Given the description of an element on the screen output the (x, y) to click on. 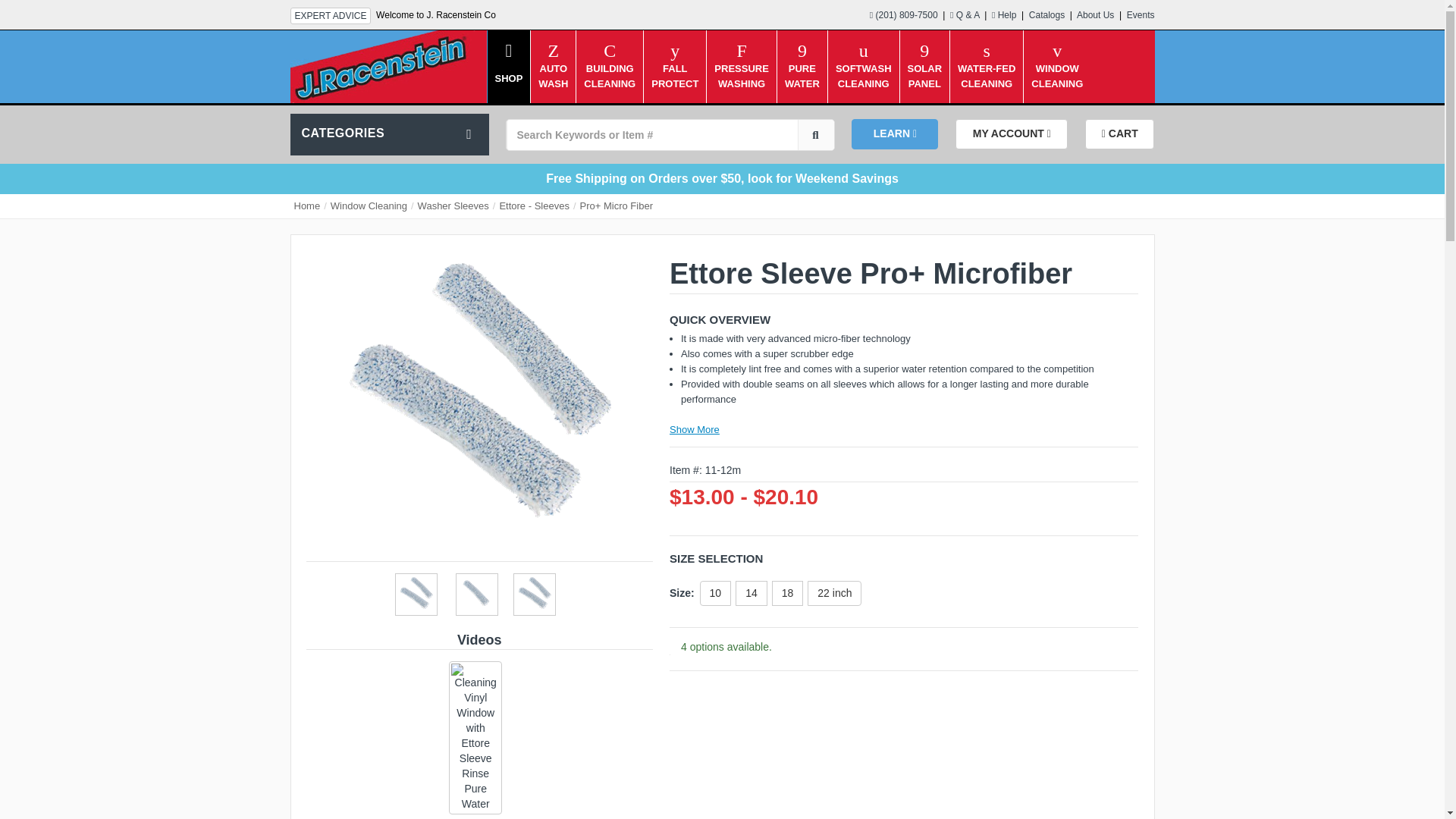
About Us (741, 53)
Solar Panel  (1095, 14)
Window Cleaning (924, 53)
EXPERT ADVICE (1056, 53)
Pressure Washing (330, 15)
Auto Wash (741, 53)
